Given the description of an element on the screen output the (x, y) to click on. 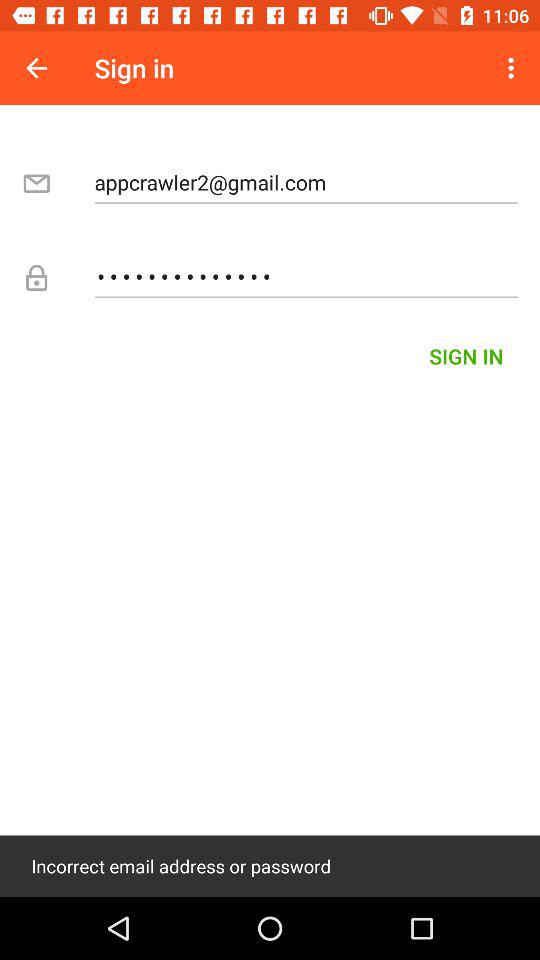
jump until appcrawler2@gmail.com icon (306, 181)
